Given the description of an element on the screen output the (x, y) to click on. 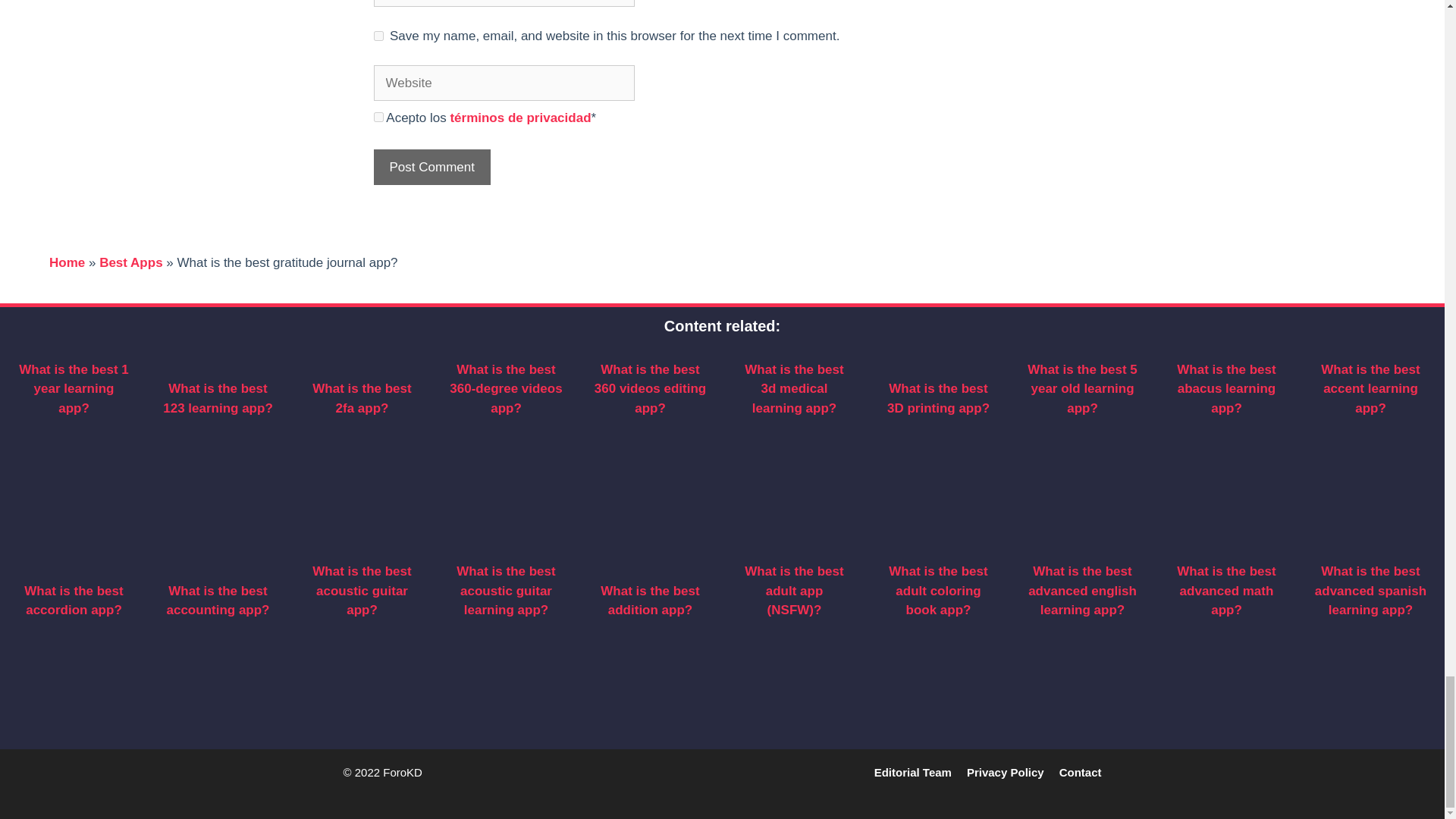
What is the best 3D printing app? (938, 398)
What is the best 1 year learning app? (73, 388)
What is the best abacus learning app? (1225, 388)
Post Comment (430, 166)
What is the best 5 year old learning app? (1082, 388)
What is the best 360 videos editing app? (650, 388)
What is the best accordion app? (73, 600)
What is the best 360-degree videos app? (505, 388)
What is the best 3d medical learning app? (793, 388)
Post Comment (430, 166)
What is the best 2fa app? (361, 398)
What is the best 123 learning app? (218, 398)
Best Apps (130, 262)
on (377, 117)
What is the best accent learning app? (1369, 388)
